Given the description of an element on the screen output the (x, y) to click on. 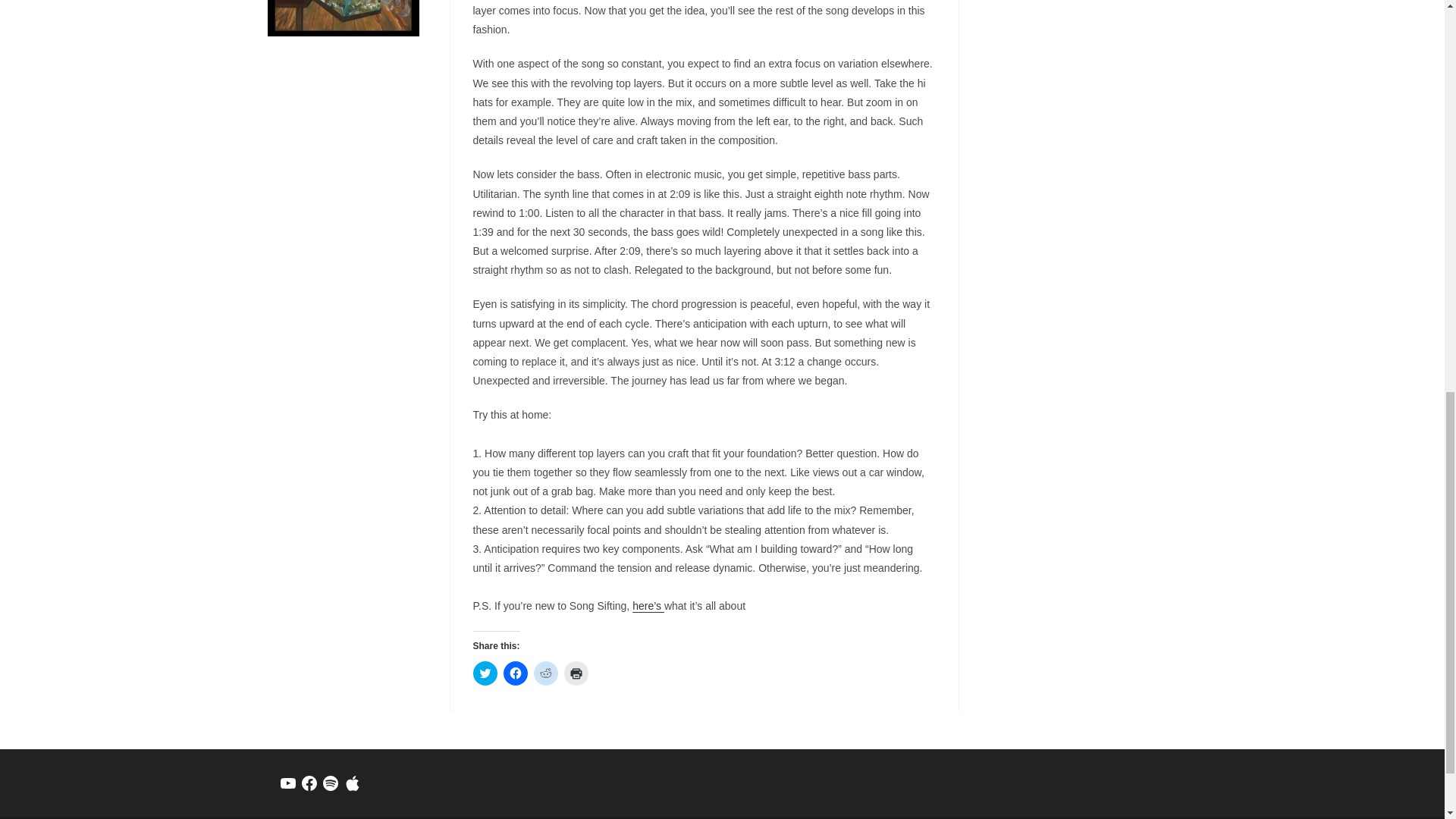
Click to share on Twitter (485, 672)
Click to share on Facebook (515, 672)
Click to share on Reddit (545, 672)
Click to print (576, 672)
